Given the description of an element on the screen output the (x, y) to click on. 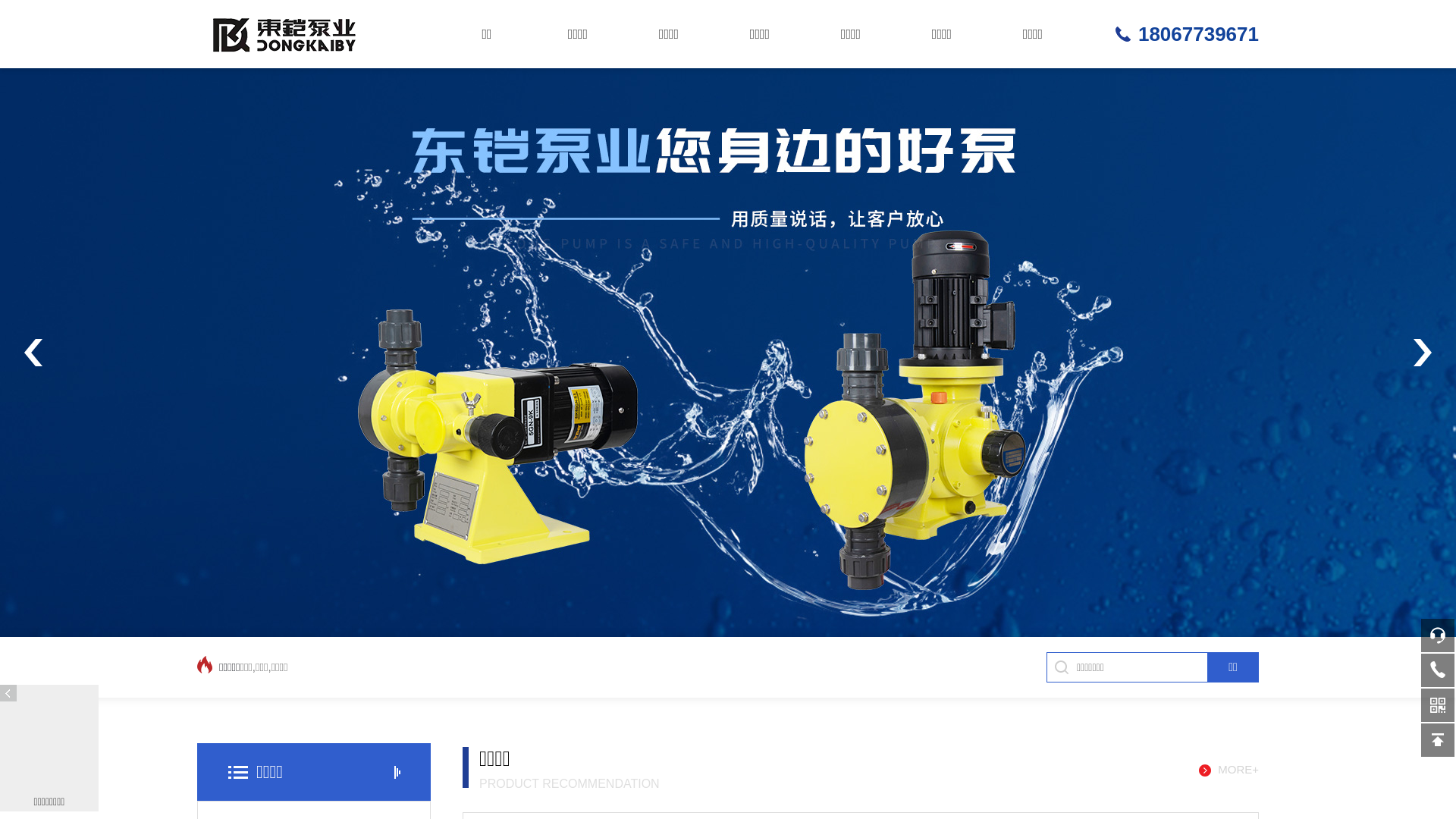
MORE+ Element type: text (1228, 769)
